Given the description of an element on the screen output the (x, y) to click on. 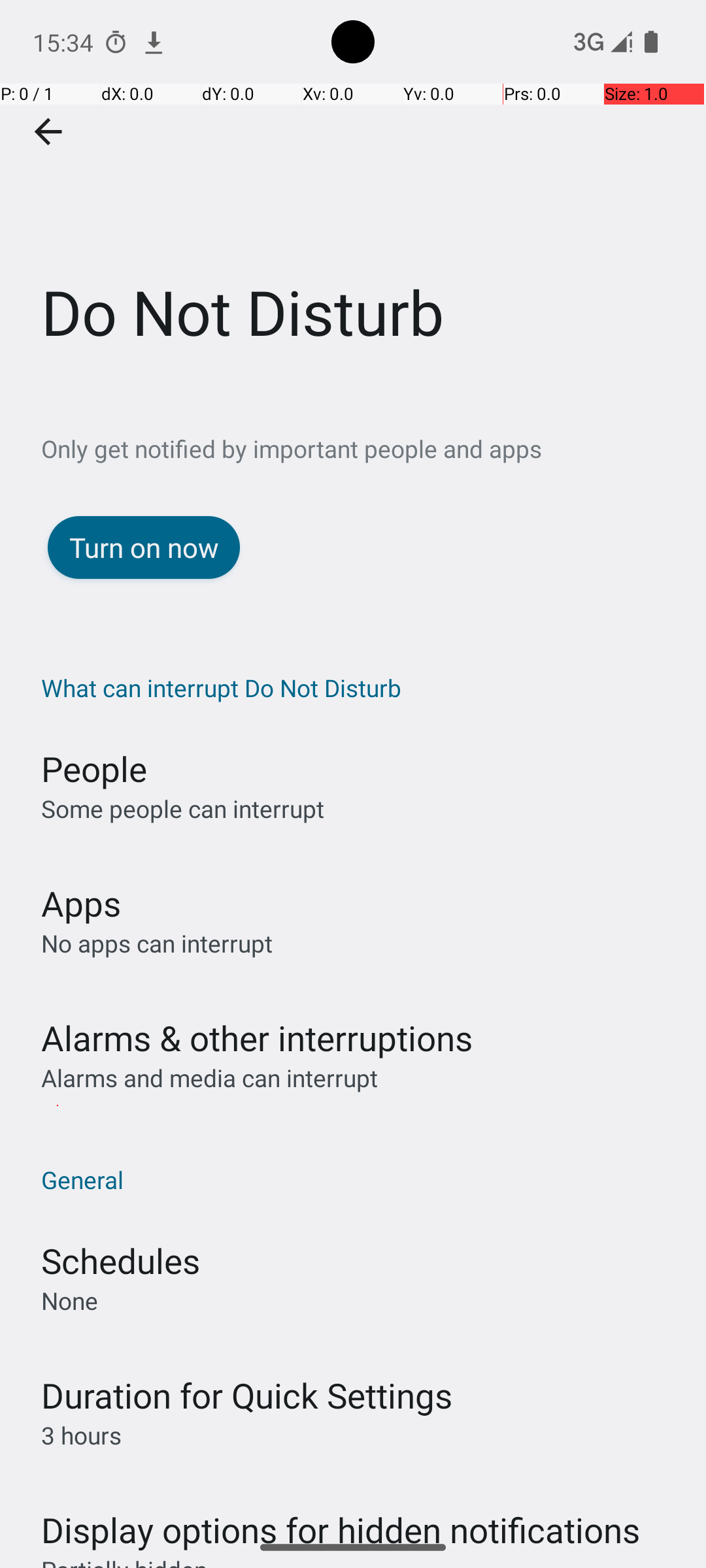
Only get notified by important people and apps Element type: android.widget.TextView (373, 448)
What can interrupt Do Not Disturb Element type: android.widget.TextView (359, 687)
Some people can interrupt Element type: android.widget.TextView (182, 808)
No apps can interrupt Element type: android.widget.TextView (156, 942)
Alarms & other interruptions Element type: android.widget.TextView (256, 1037)
Alarms and media can interrupt Element type: android.widget.TextView (209, 1077)
Duration for Quick Settings Element type: android.widget.TextView (246, 1395)
3 hours Element type: android.widget.TextView (81, 1434)
